Given the description of an element on the screen output the (x, y) to click on. 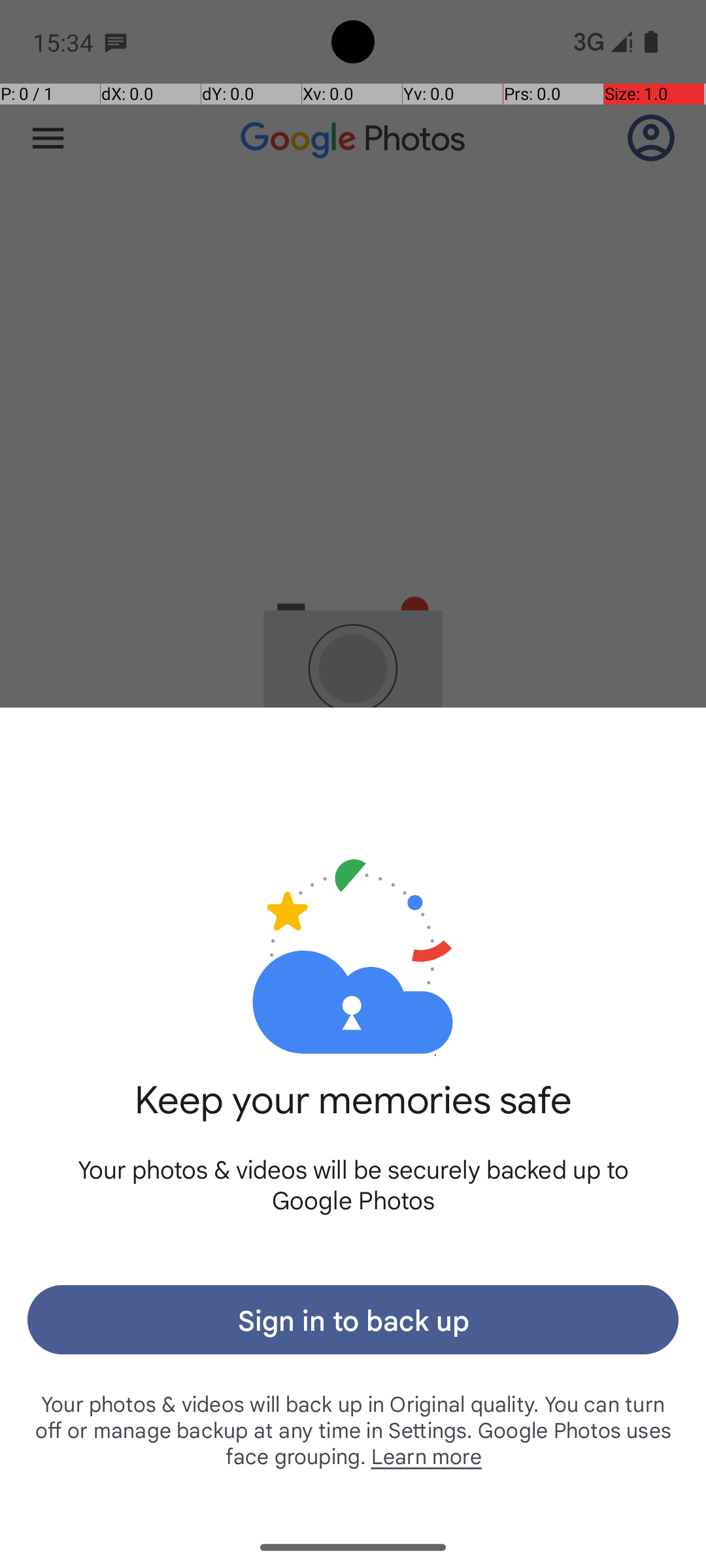
Photos and videos stored in a cloud Element type: android.widget.ImageView (352, 913)
Keep your memories safe Element type: android.widget.TextView (352, 1113)
Your photos & videos will be securely backed up to Google Photos Element type: android.widget.TextView (352, 1183)
Sign in to back up Element type: android.widget.Button (352, 1319)
Your photos & videos will back up in Original quality. You can turn off or manage backup at any time in Settings. Google Photos uses face grouping. Learn more Element type: android.widget.TextView (352, 1429)
